Given the description of an element on the screen output the (x, y) to click on. 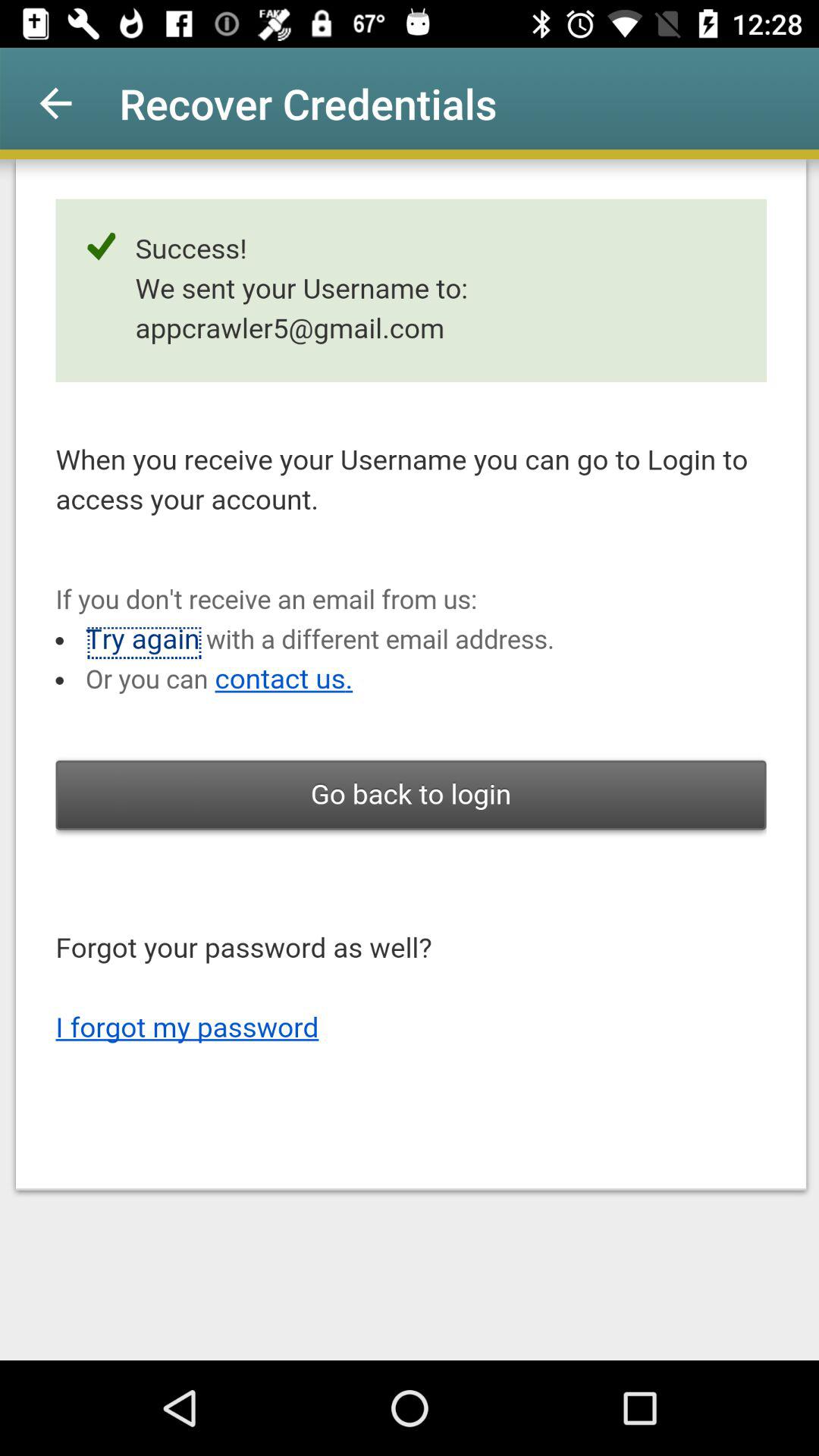
tap the item at the center (409, 759)
